Given the description of an element on the screen output the (x, y) to click on. 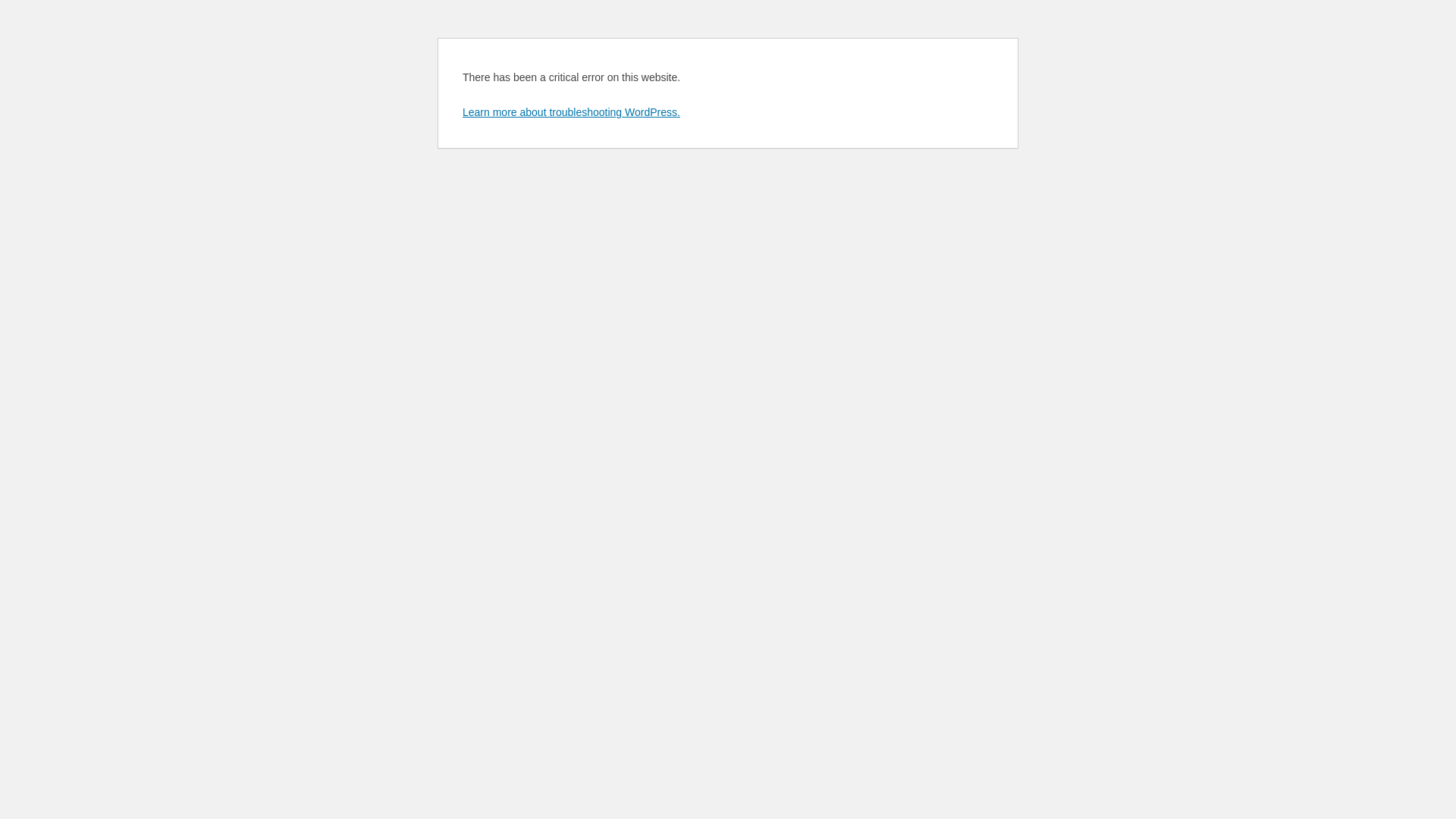
Learn more about troubleshooting WordPress. Element type: text (571, 112)
